Given the description of an element on the screen output the (x, y) to click on. 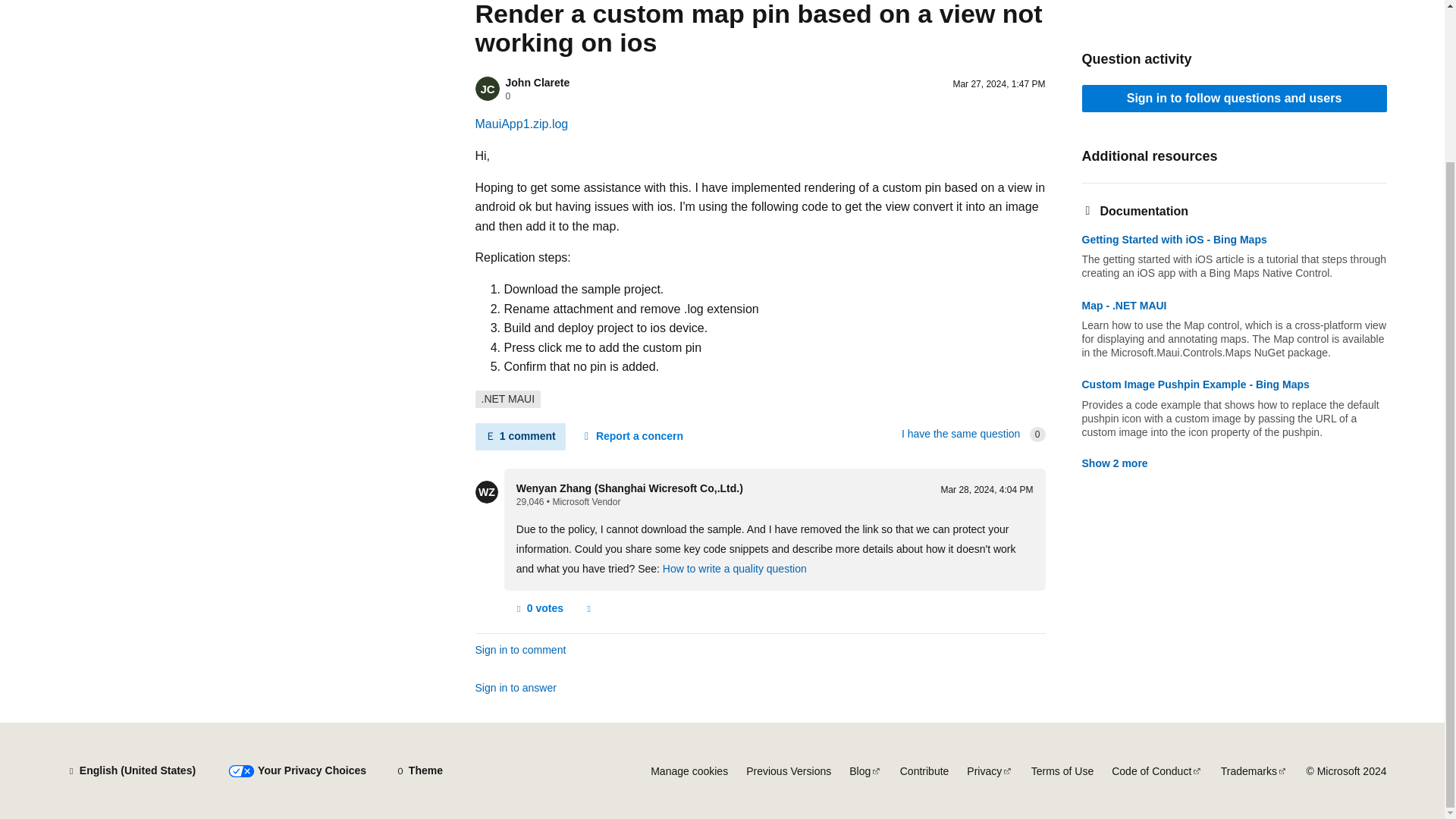
This comment is helpful (538, 608)
Report a concern (632, 436)
You have the same or similar question (960, 433)
Hide comments for this question (519, 436)
John Clarete (537, 82)
MauiApp1.zip.log (520, 123)
Theme (419, 770)
Reputation points (530, 501)
Report a concern (588, 608)
